Given the description of an element on the screen output the (x, y) to click on. 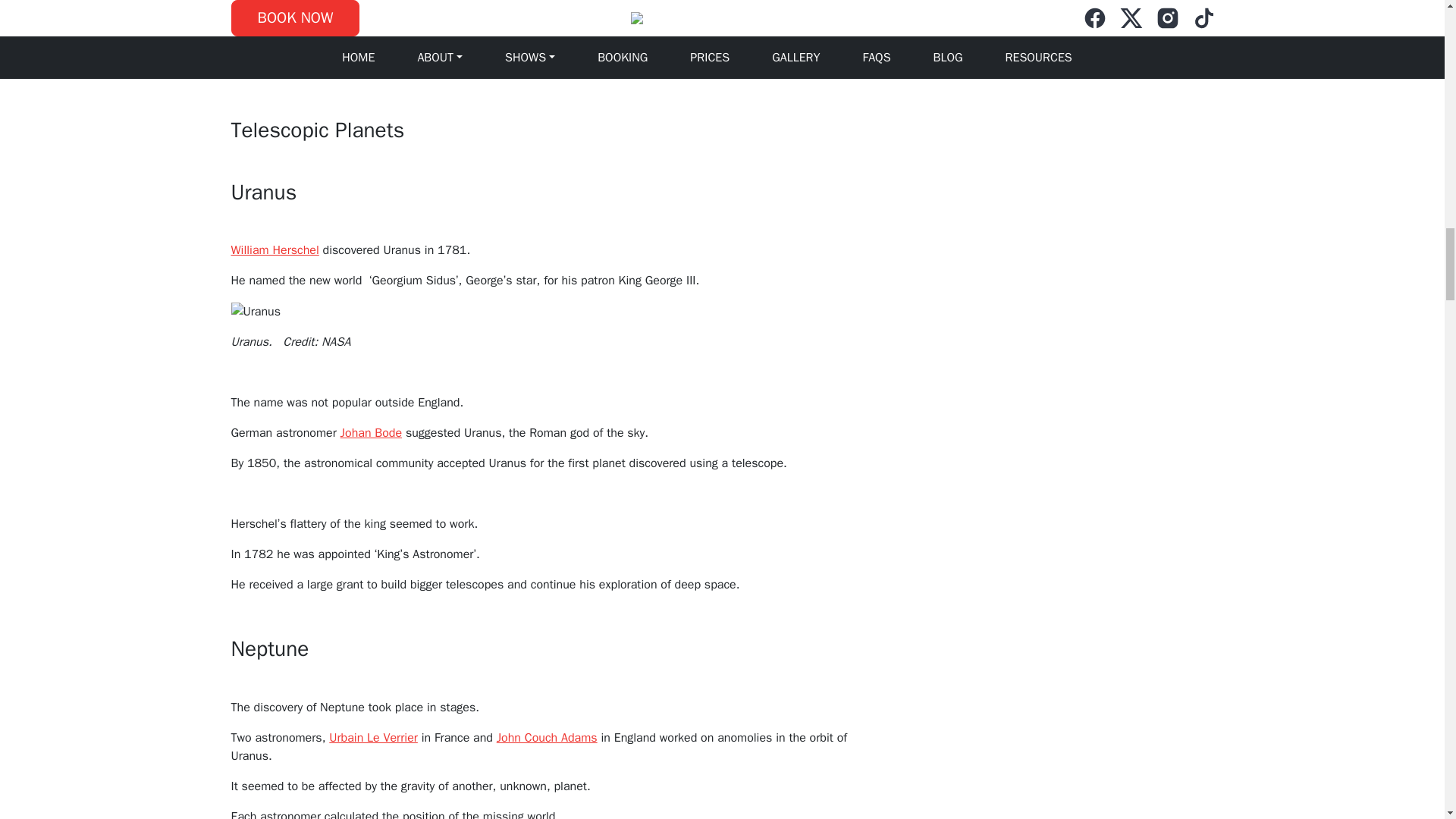
Urbain Le Verrier (373, 737)
Johan Bode (370, 432)
William Herschel (274, 249)
John Couch Adams (546, 737)
